Given the description of an element on the screen output the (x, y) to click on. 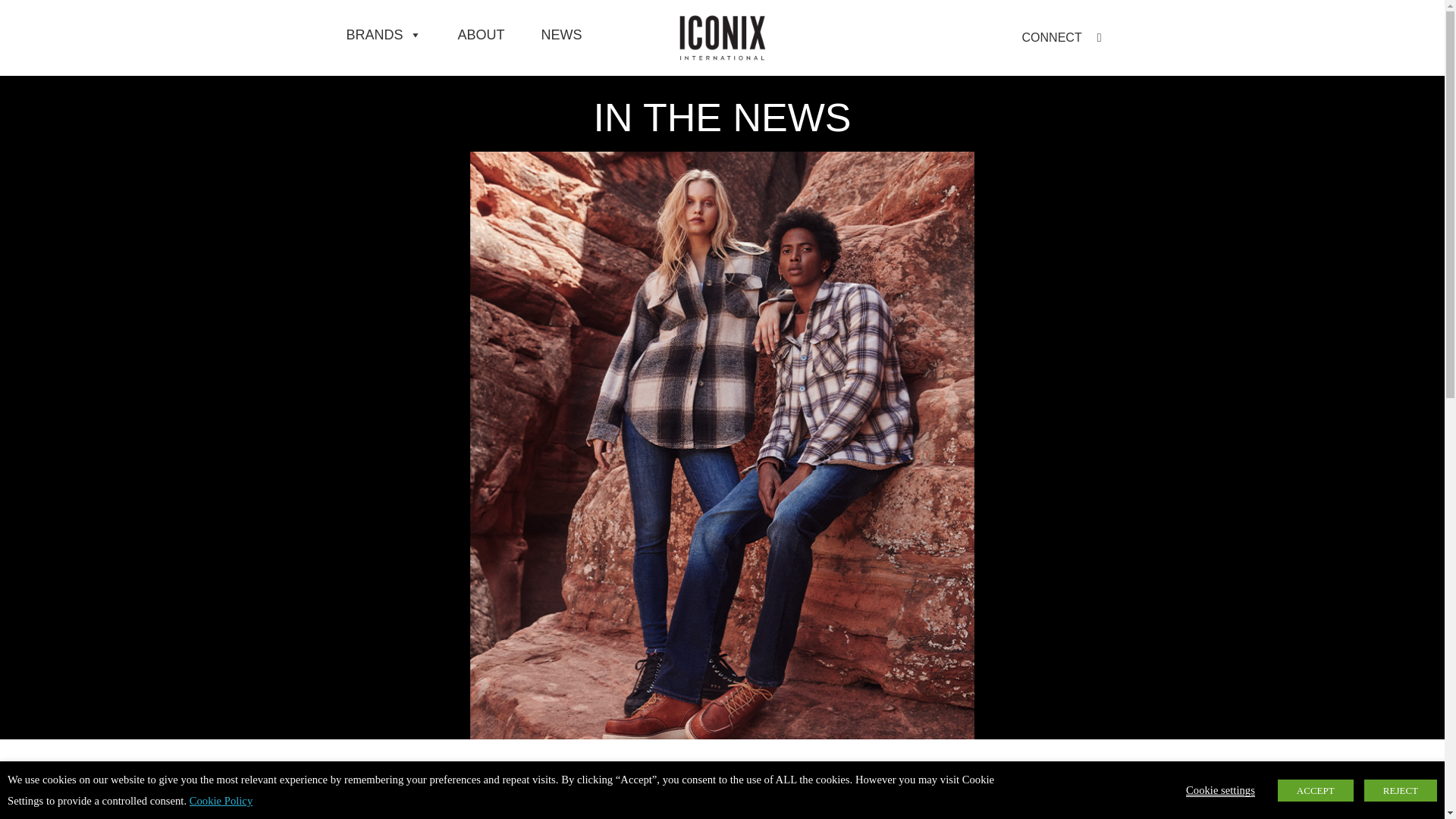
NEWS (561, 34)
ABOUT (481, 34)
CONNECT (1051, 37)
BRANDS (382, 34)
